Given the description of an element on the screen output the (x, y) to click on. 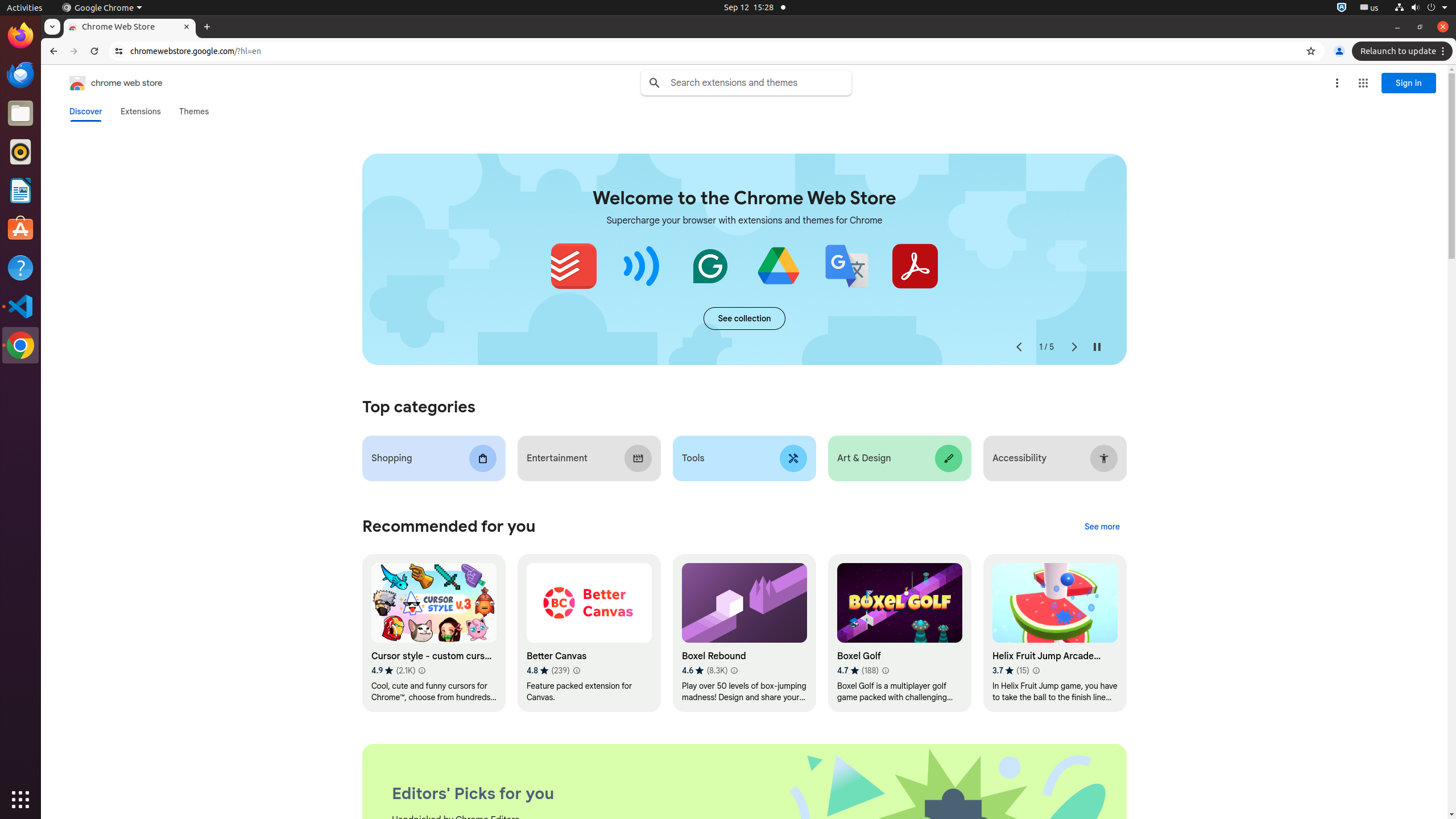
Shopping Element type: link (433, 458)
Boxel Golf Element type: link (899, 632)
Grammarly: AI Writing and Grammar Checker App Element type: link (709, 266)
Thunderbird Mail Element type: push-button (20, 74)
Themes Element type: page-tab (193, 111)
